Given the description of an element on the screen output the (x, y) to click on. 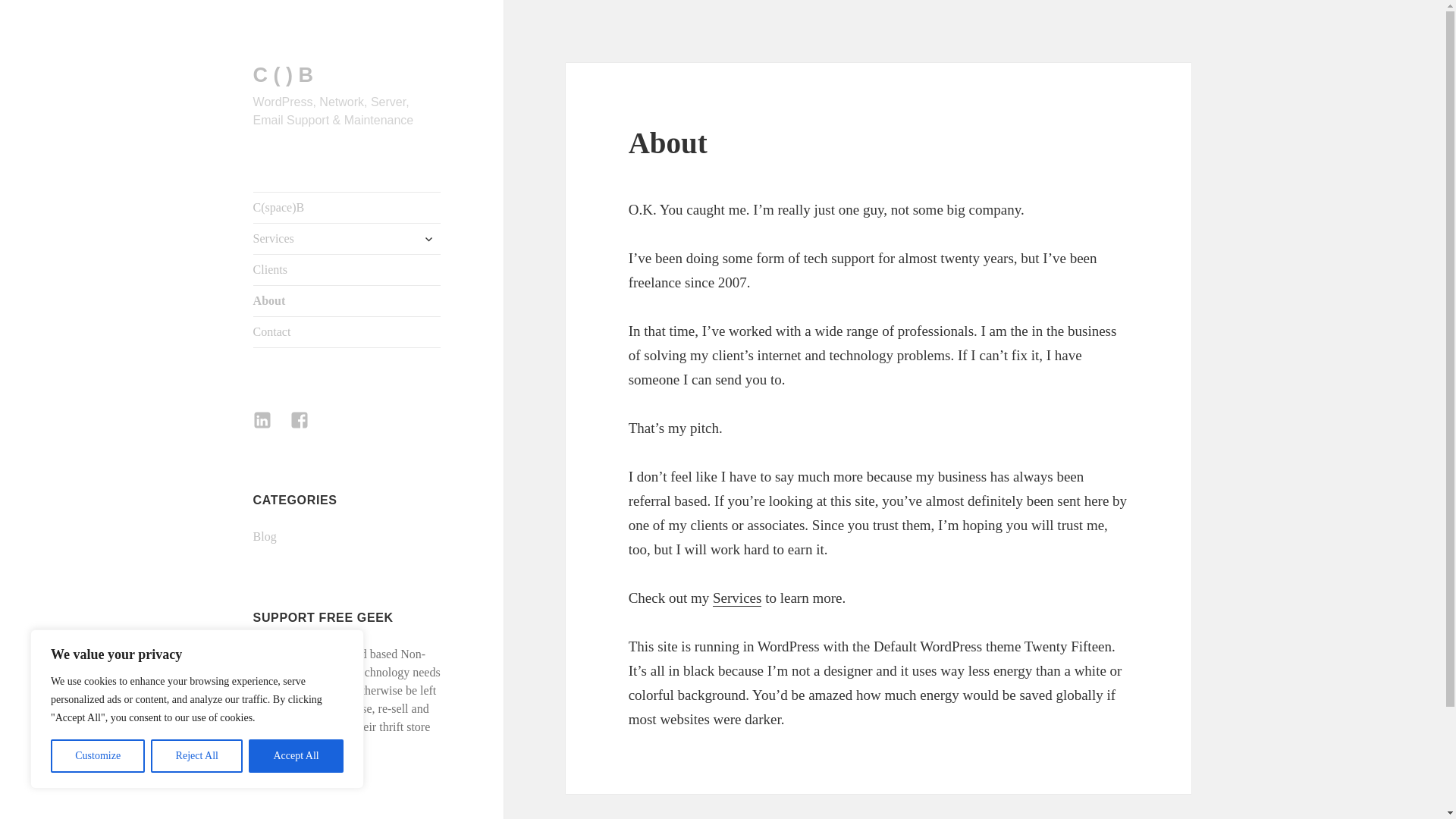
Blog (264, 535)
Contact (347, 331)
Customize (97, 756)
LinkedIn (271, 429)
Free Geek (277, 653)
expand child menu (428, 238)
Accept All (295, 756)
Facebook (307, 429)
About (347, 300)
Services (347, 238)
